Given the description of an element on the screen output the (x, y) to click on. 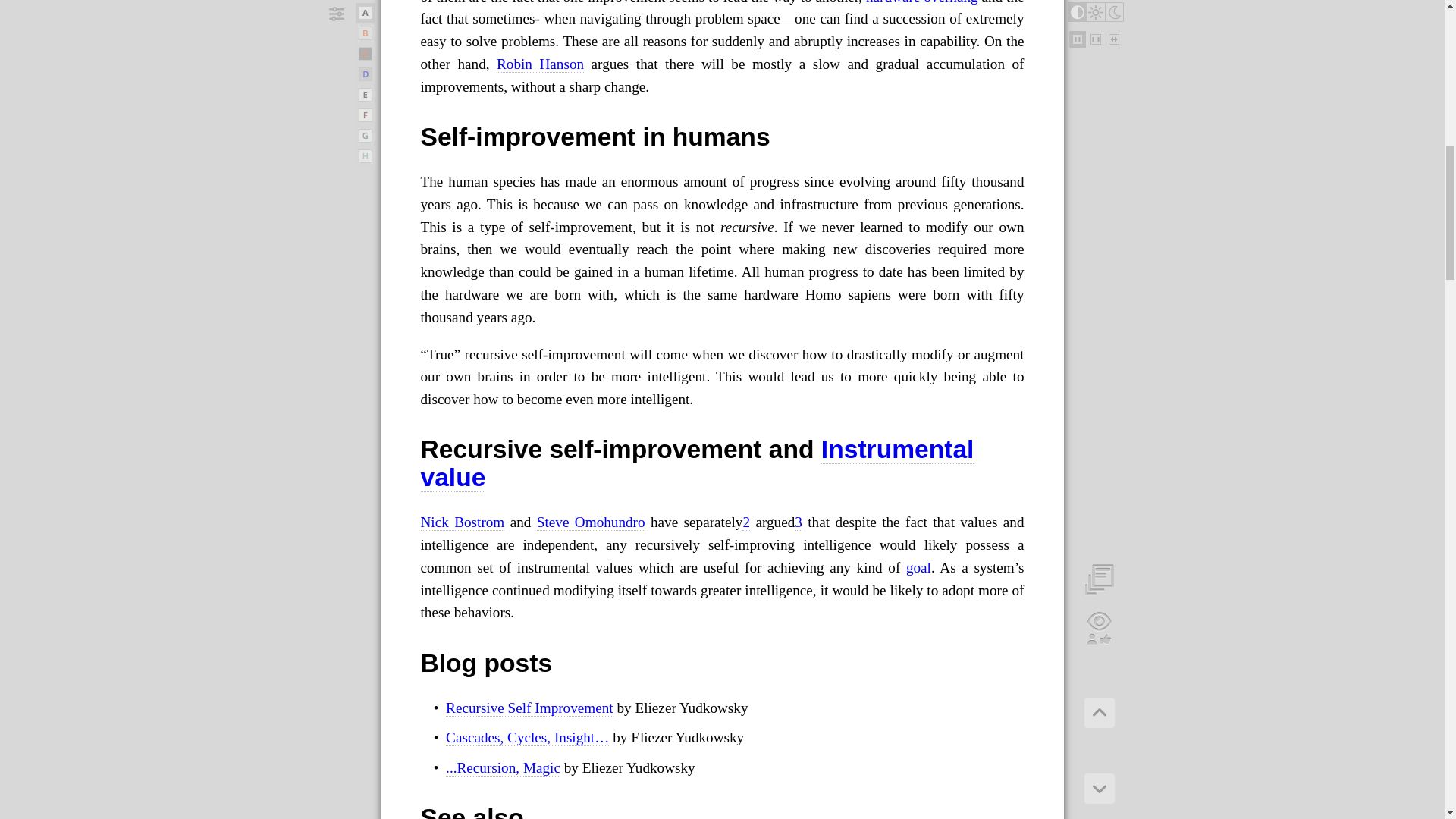
Instrumental value (697, 463)
Steve Omohundro (591, 522)
Nick Bostrom (461, 522)
goal (918, 567)
Recursive Self Improvement (528, 708)
...Recursion, Magic (502, 768)
Robin Hanson (539, 64)
hardware overhang (922, 2)
